Given the description of an element on the screen output the (x, y) to click on. 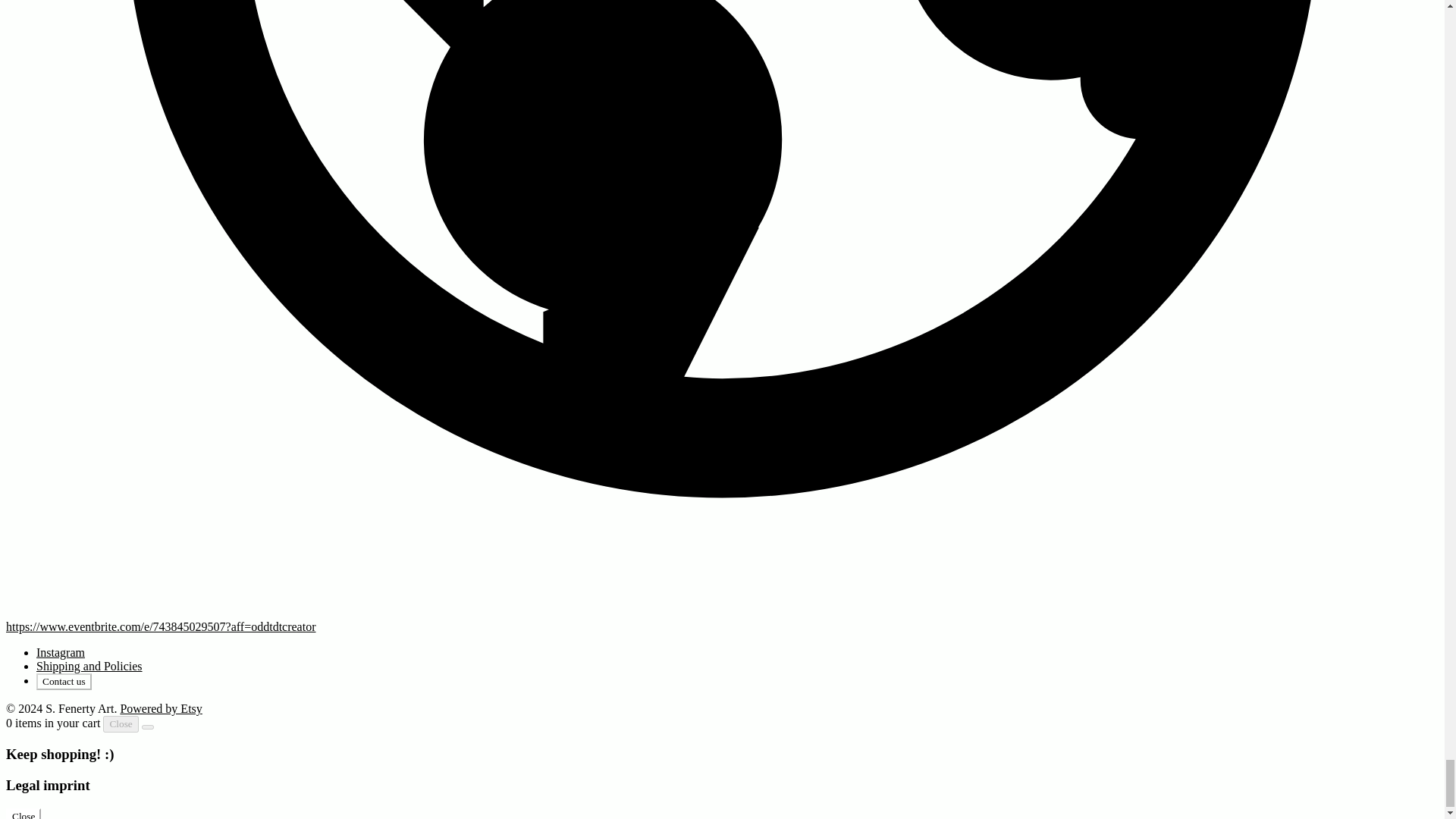
Instagram (60, 652)
Tapped In: (160, 626)
Powered by Etsy (160, 707)
Contact us (63, 681)
Shipping and Policies (89, 666)
Close (120, 723)
